Given the description of an element on the screen output the (x, y) to click on. 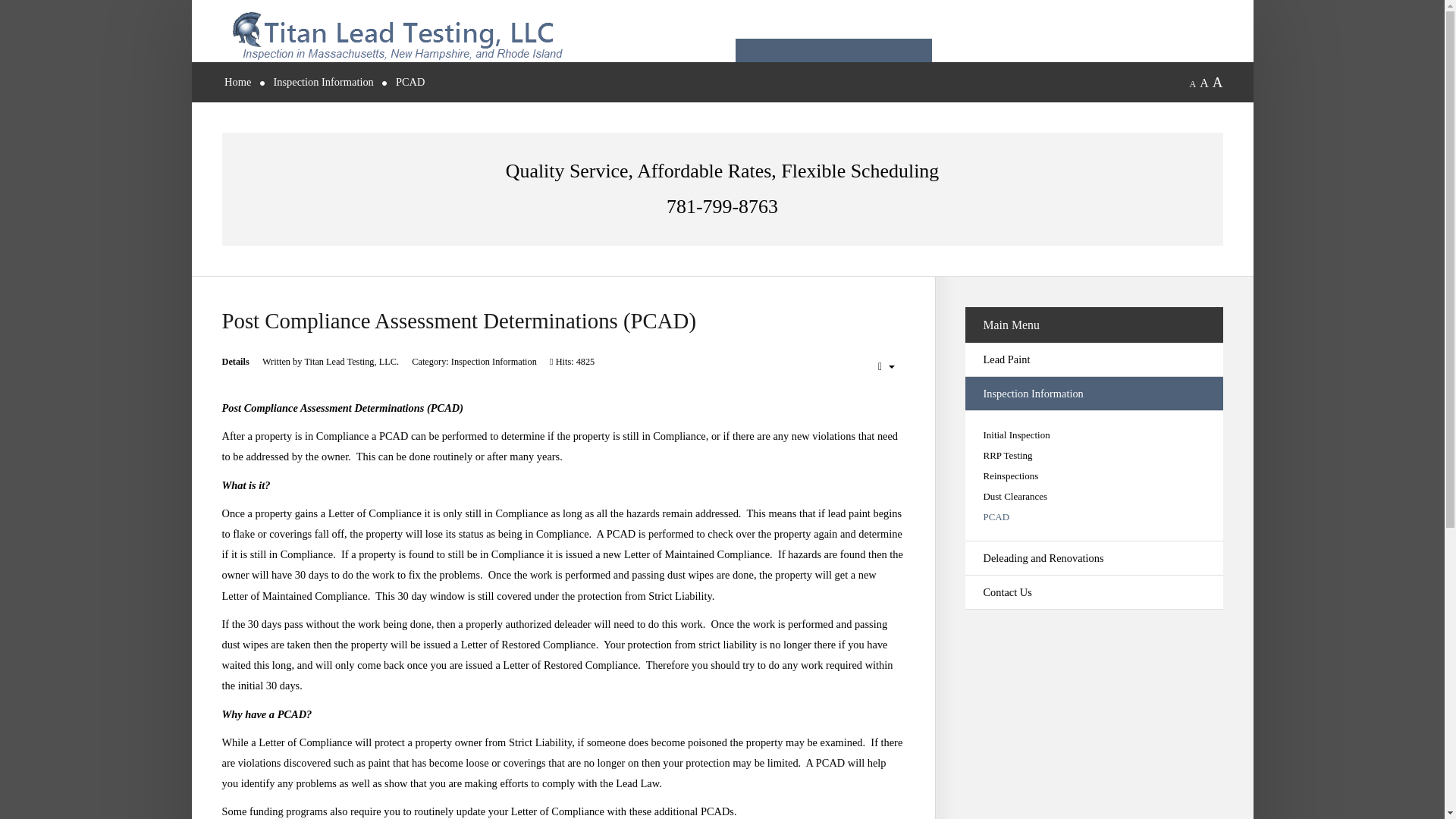
Contact Us (1093, 592)
Dust Clearances (1093, 496)
RRP Testing (1093, 455)
Lead Paint (1093, 359)
PCAD (1093, 516)
Inspection Information (1093, 393)
Inspection Information (494, 361)
Deleading and Renovations (1093, 558)
Home (237, 81)
Initial Inspection (1093, 434)
Reinspections (1093, 475)
Inspection Information (322, 81)
